Given the description of an element on the screen output the (x, y) to click on. 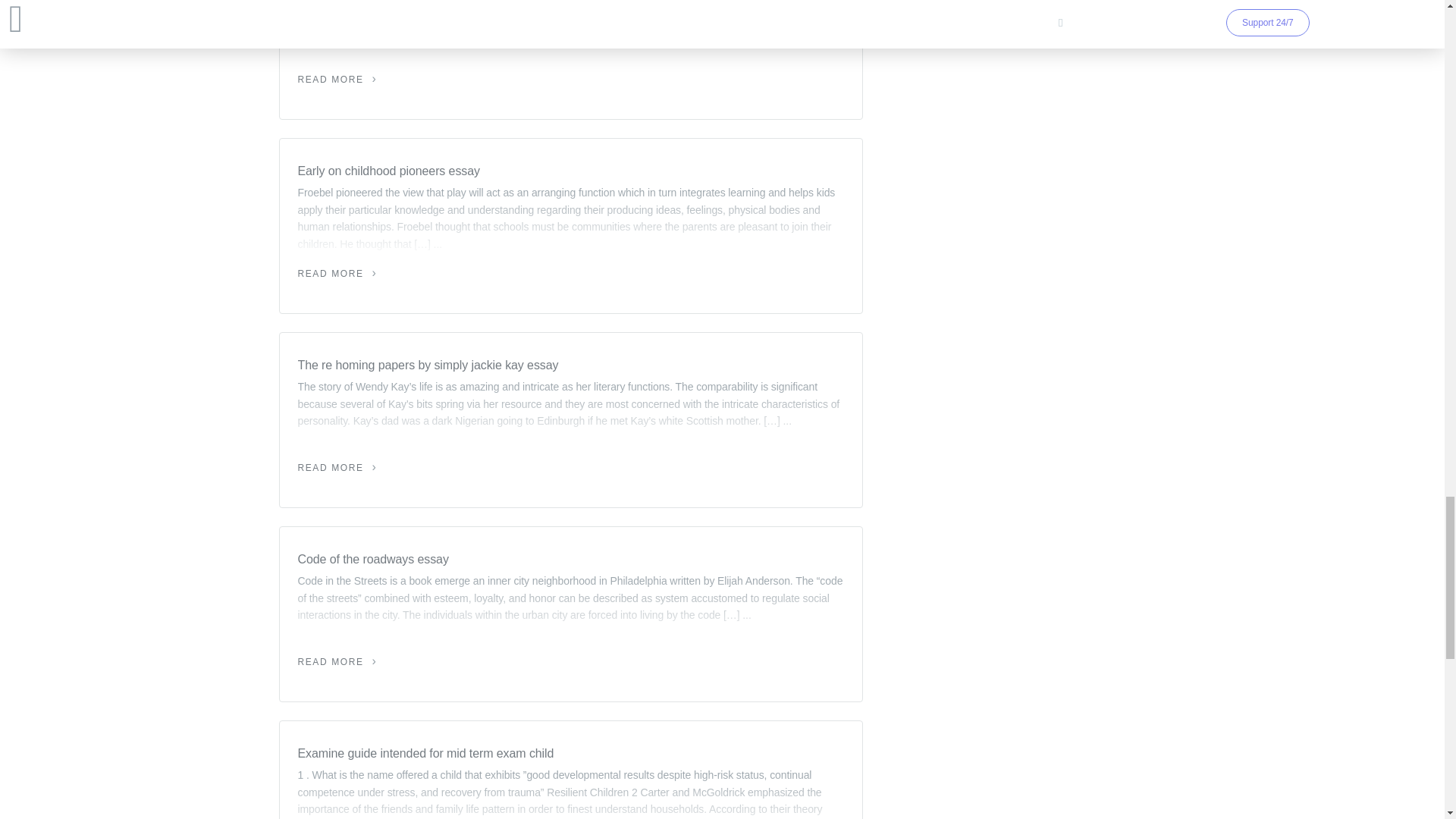
Examine guide intended for mid term exam child (570, 753)
READ MORE (337, 79)
The re homing papers by simply jackie kay essay (570, 365)
READ MORE (337, 661)
Code of the roadways essay (570, 559)
READ MORE (337, 467)
Early on childhood pioneers essay (570, 170)
READ MORE (337, 273)
